Given the description of an element on the screen output the (x, y) to click on. 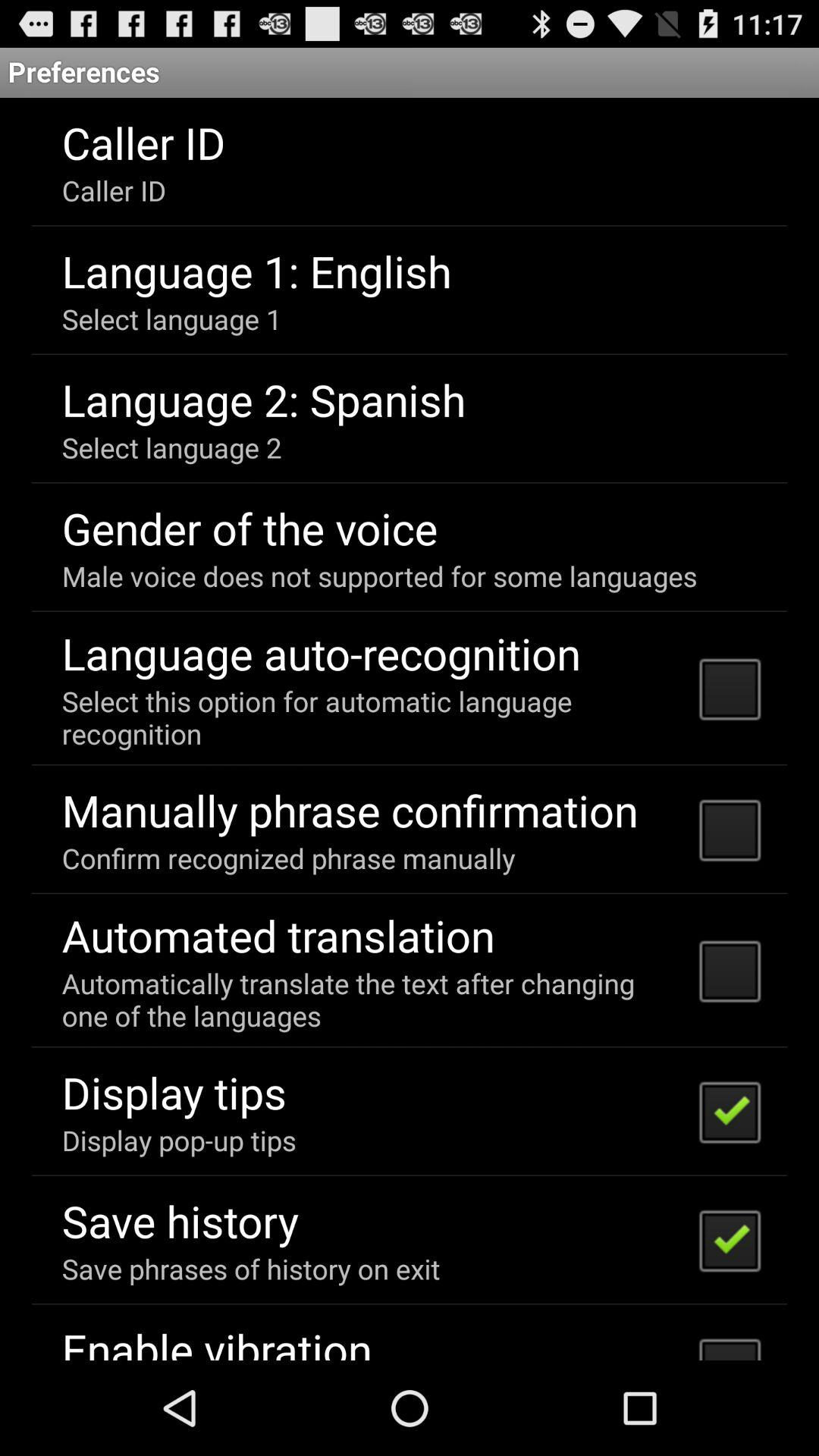
swipe to the enable vibration item (216, 1340)
